Given the description of an element on the screen output the (x, y) to click on. 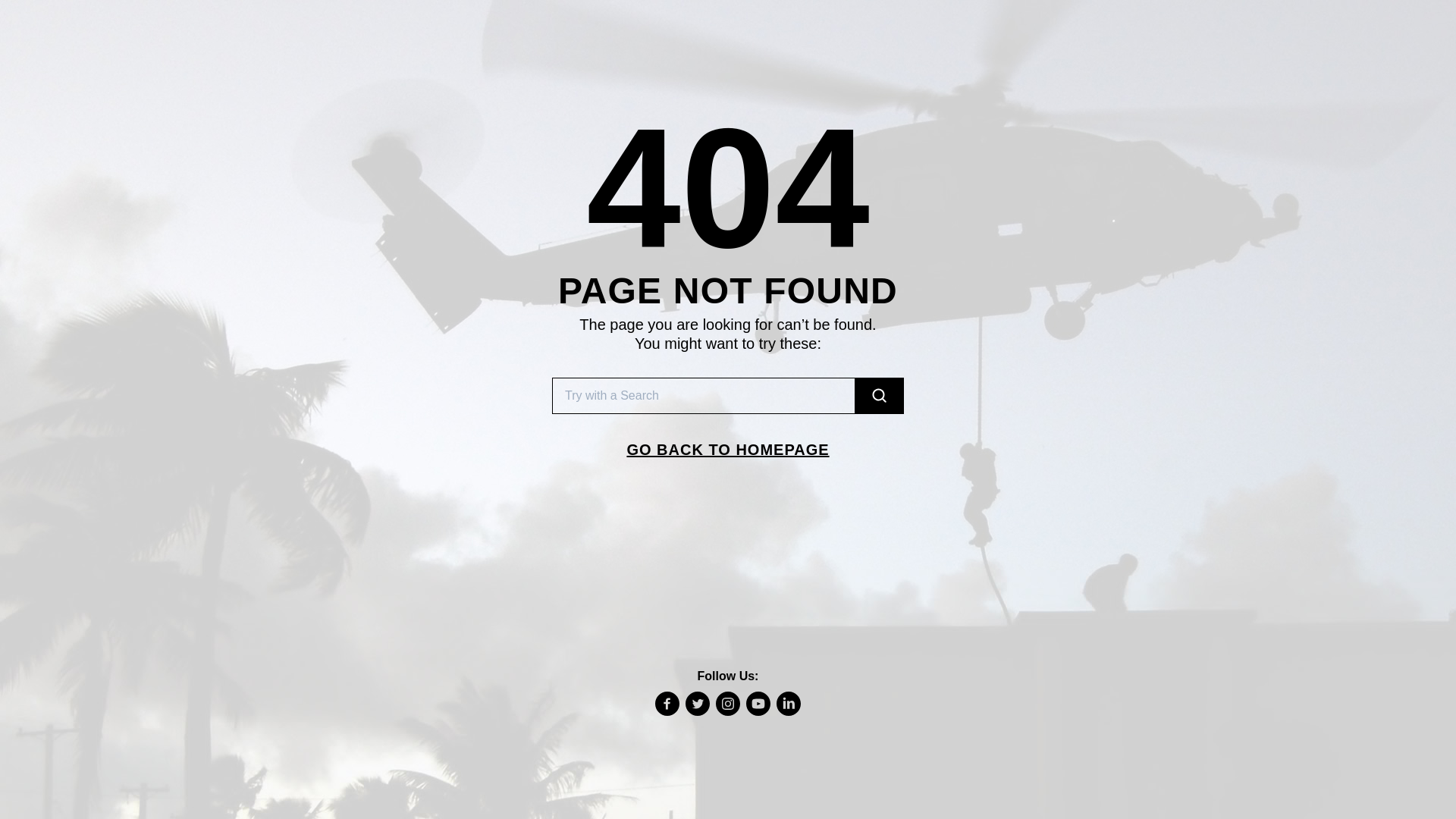
GO BACK TO HOMEPAGE (727, 449)
